Given the description of an element on the screen output the (x, y) to click on. 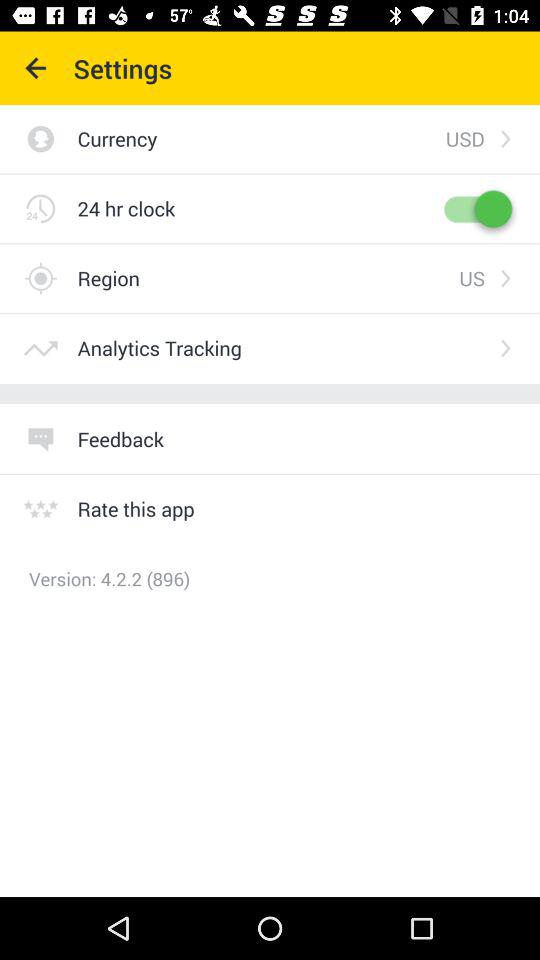
scroll to currency icon (261, 138)
